Given the description of an element on the screen output the (x, y) to click on. 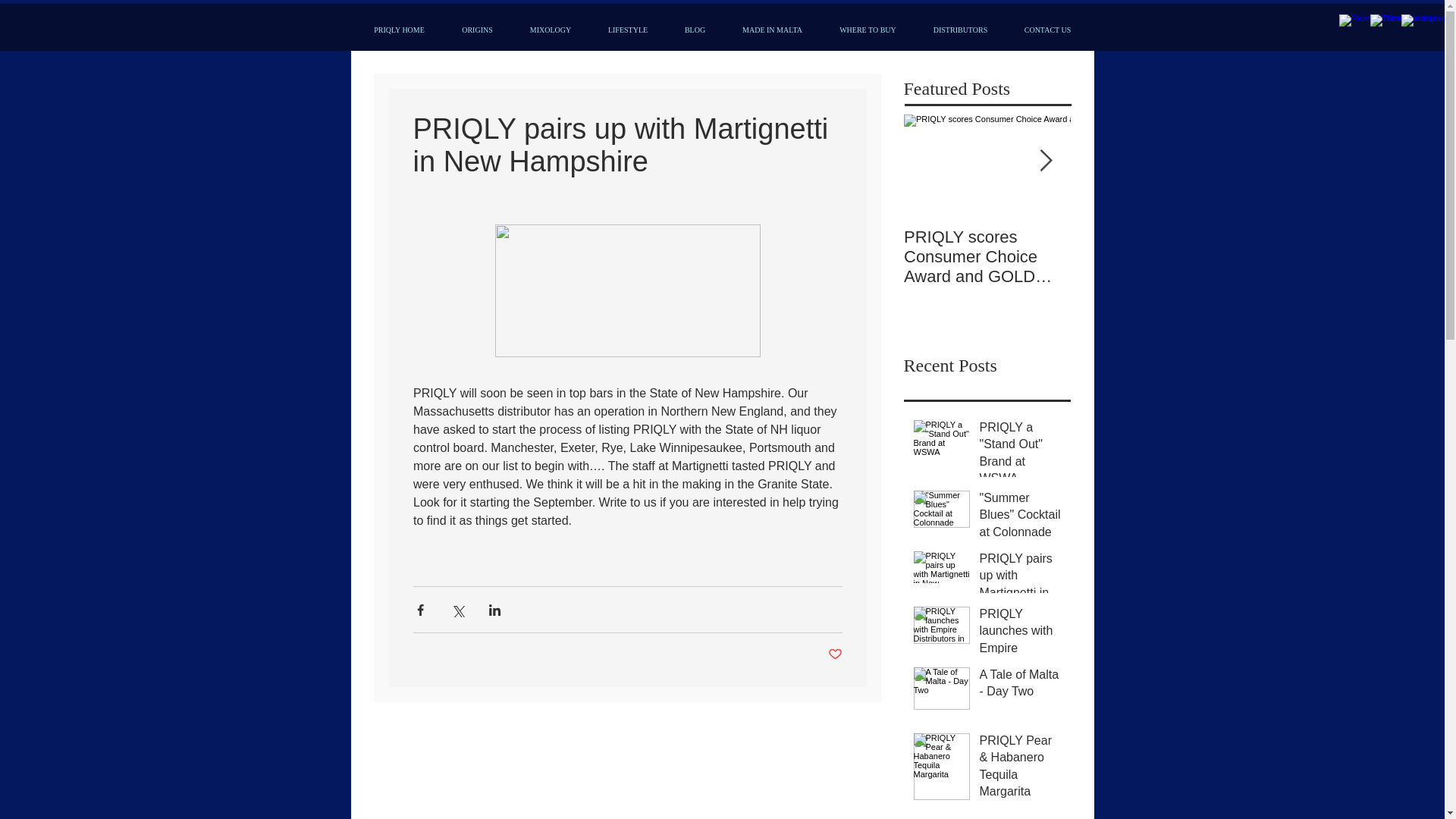
DISTRIBUTORS (960, 29)
PRIQLY pairs up with Martignetti in New Hampshire (1020, 595)
MADE IN MALTA (772, 29)
WHERE TO BUY (867, 29)
LIFESTYLE (627, 29)
PRIQLY HOME (398, 29)
MIXOLOGY (550, 29)
ORIGINS (476, 29)
PRIQLY a "Stand Out" Brand at WSWA (1020, 456)
CONTACT US (1047, 29)
